Given the description of an element on the screen output the (x, y) to click on. 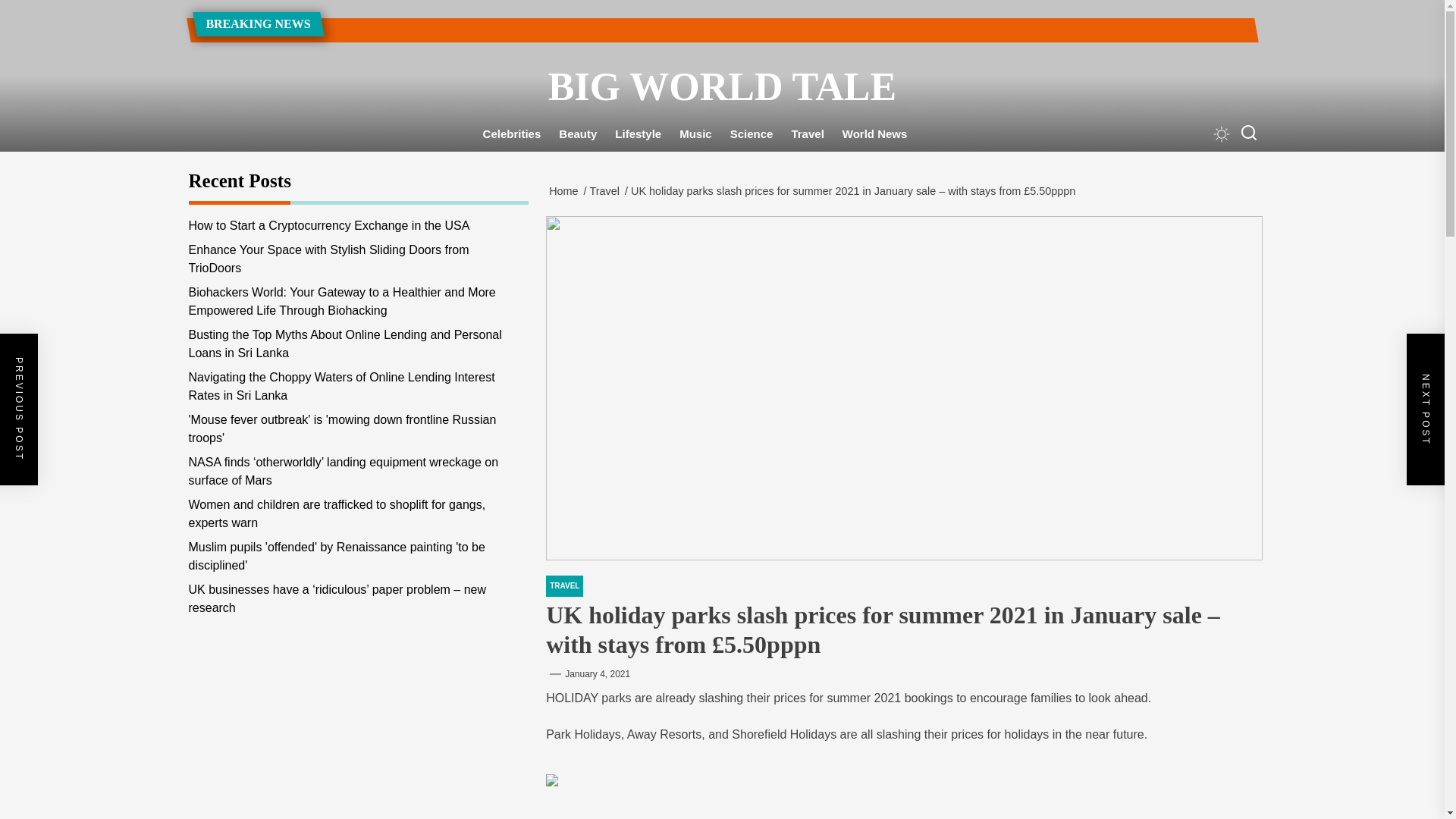
BIG WORLD TALE (721, 86)
Beauty (577, 134)
Travel (806, 134)
Travel (606, 191)
Science (751, 134)
Home (566, 191)
Music (694, 134)
Lifestyle (637, 134)
TRAVEL (564, 586)
World News (874, 134)
January 4, 2021 (597, 674)
Celebrities (512, 134)
